Given the description of an element on the screen output the (x, y) to click on. 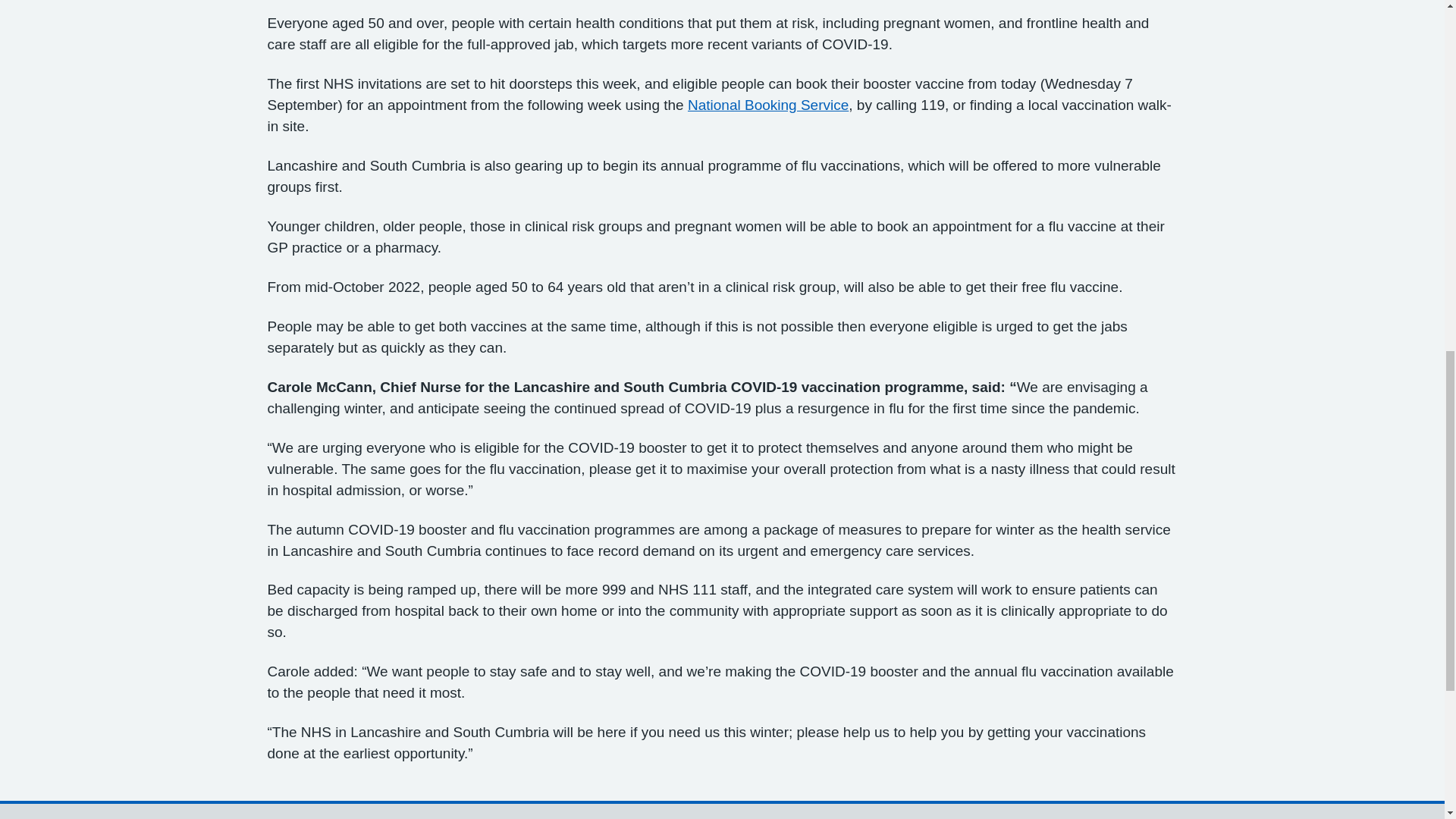
National Booking Service (767, 105)
